Given the description of an element on the screen output the (x, y) to click on. 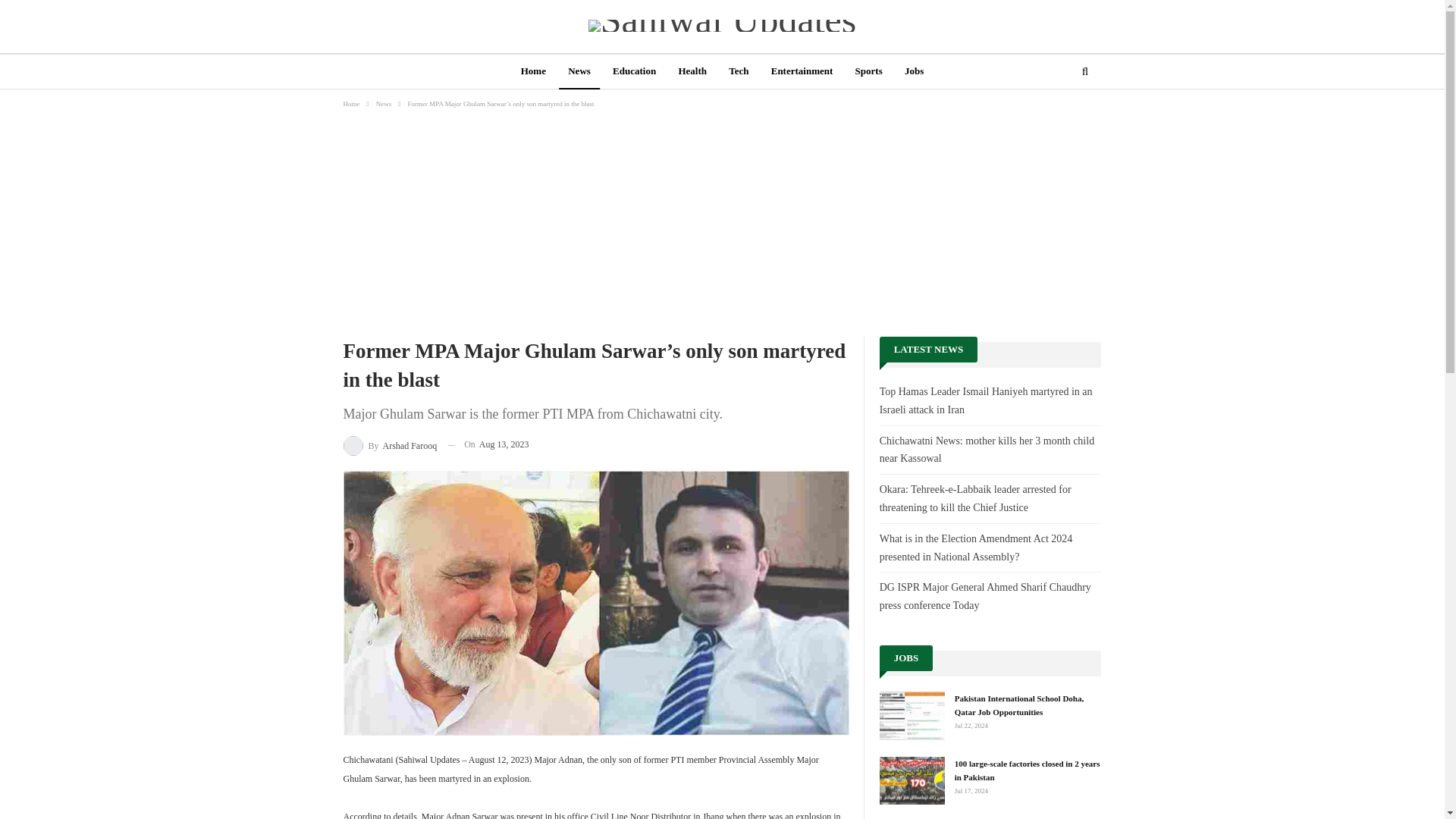
Home (533, 72)
Entertainment (802, 72)
Sports (868, 72)
Home (350, 103)
By Arshad Farooq (389, 444)
Tech (738, 72)
Education (634, 72)
